Given the description of an element on the screen output the (x, y) to click on. 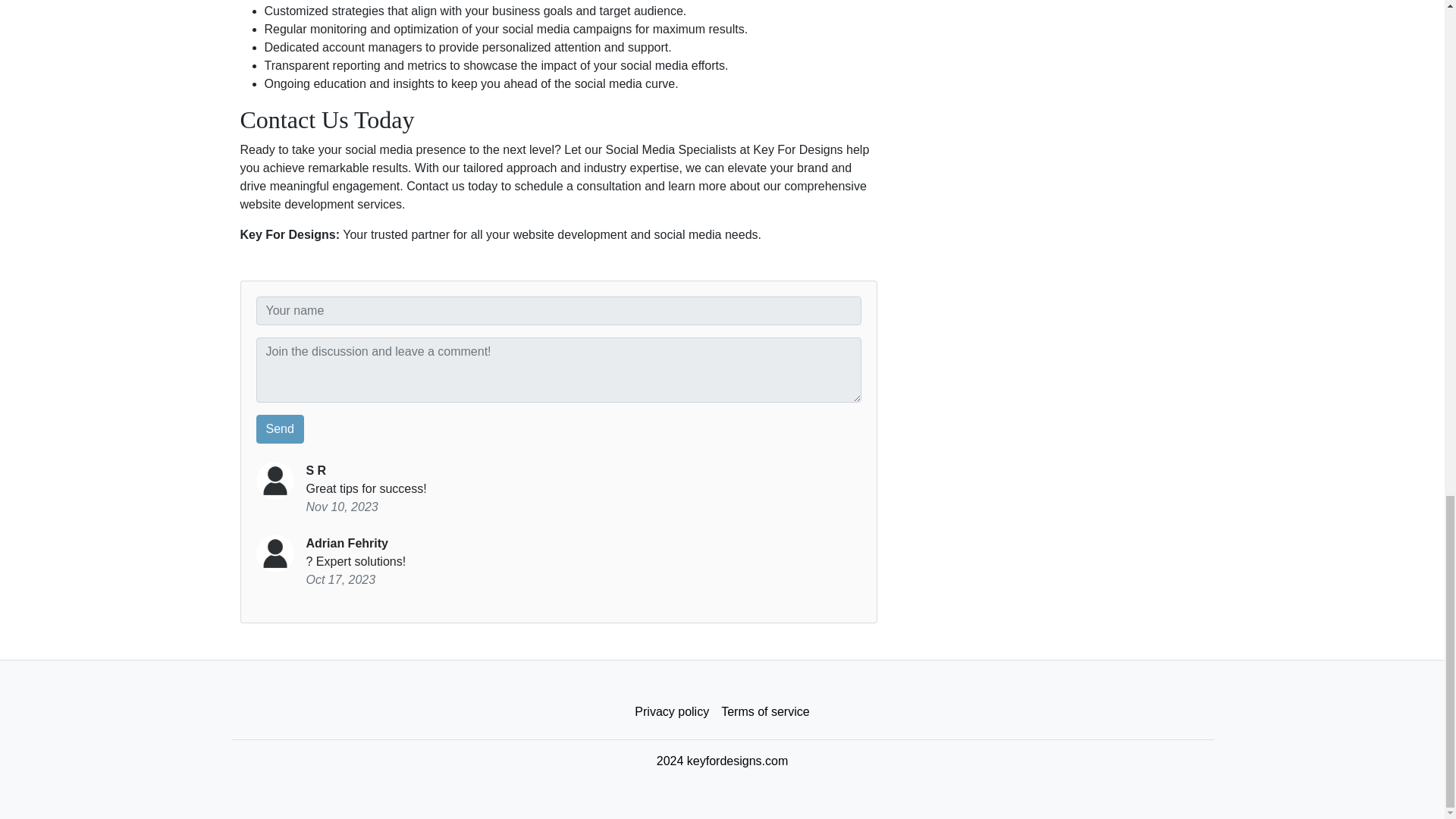
Send (280, 428)
Privacy policy (671, 711)
Terms of service (764, 711)
Send (280, 428)
